Given the description of an element on the screen output the (x, y) to click on. 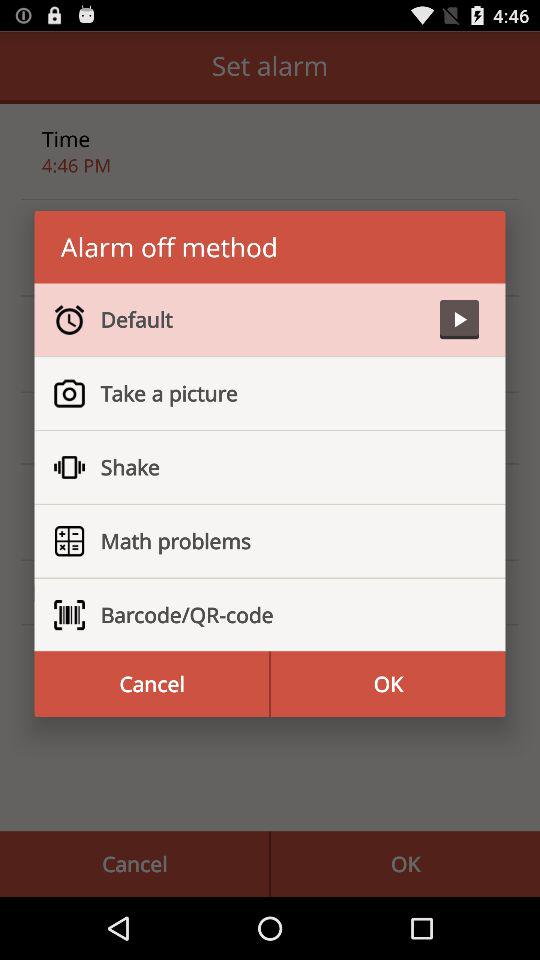
default options (459, 319)
